Given the description of an element on the screen output the (x, y) to click on. 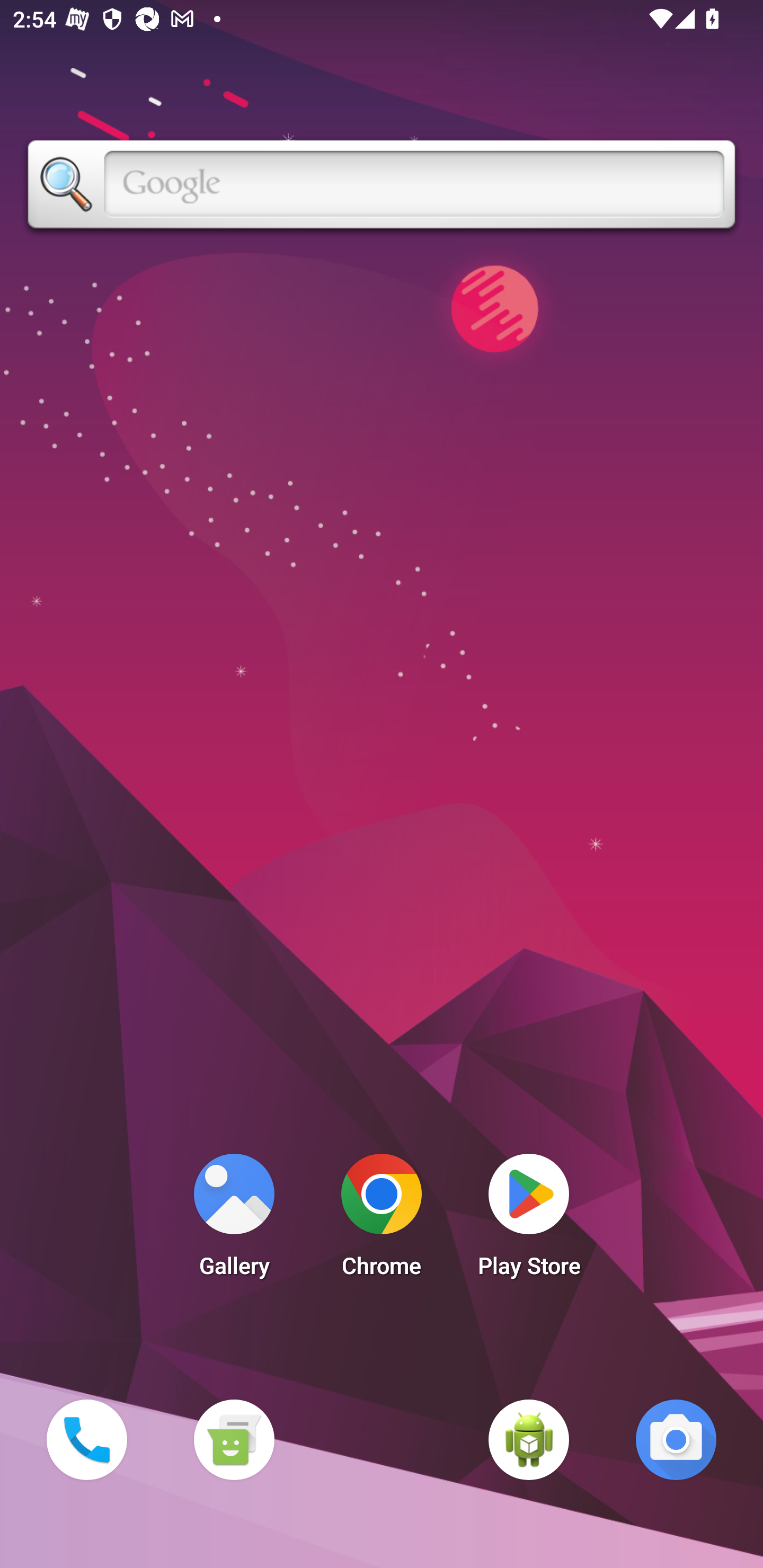
Gallery (233, 1220)
Chrome (381, 1220)
Play Store (528, 1220)
Phone (86, 1439)
Messaging (233, 1439)
WebView Browser Tester (528, 1439)
Camera (676, 1439)
